Given the description of an element on the screen output the (x, y) to click on. 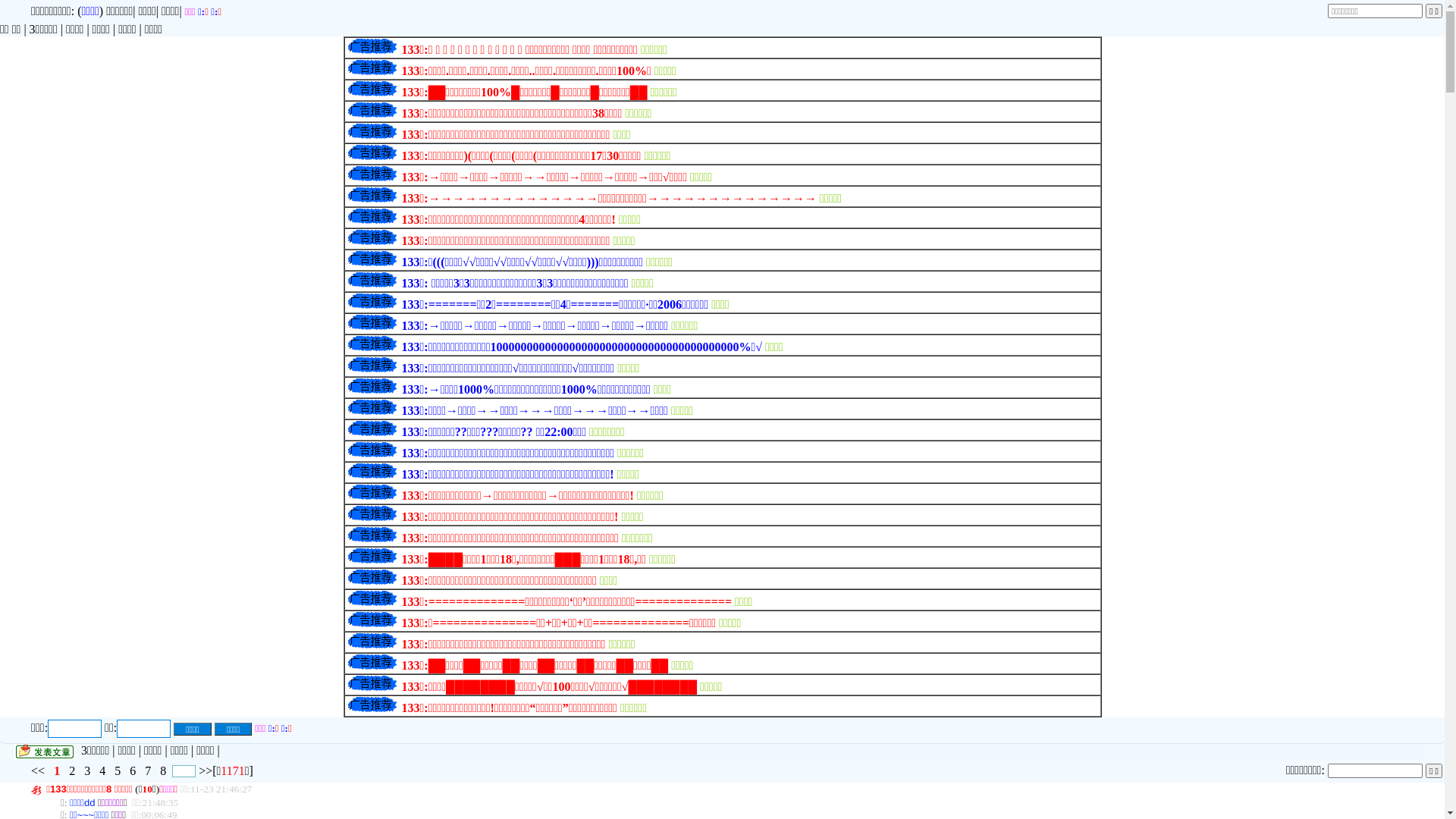
>> Element type: text (205, 770)
 6  Element type: text (132, 770)
 7  Element type: text (147, 770)
 5  Element type: text (117, 770)
<< Element type: text (39, 770)
 4  Element type: text (102, 770)
 3  Element type: text (87, 770)
 8  Element type: text (162, 770)
 2  Element type: text (71, 770)
